Given the description of an element on the screen output the (x, y) to click on. 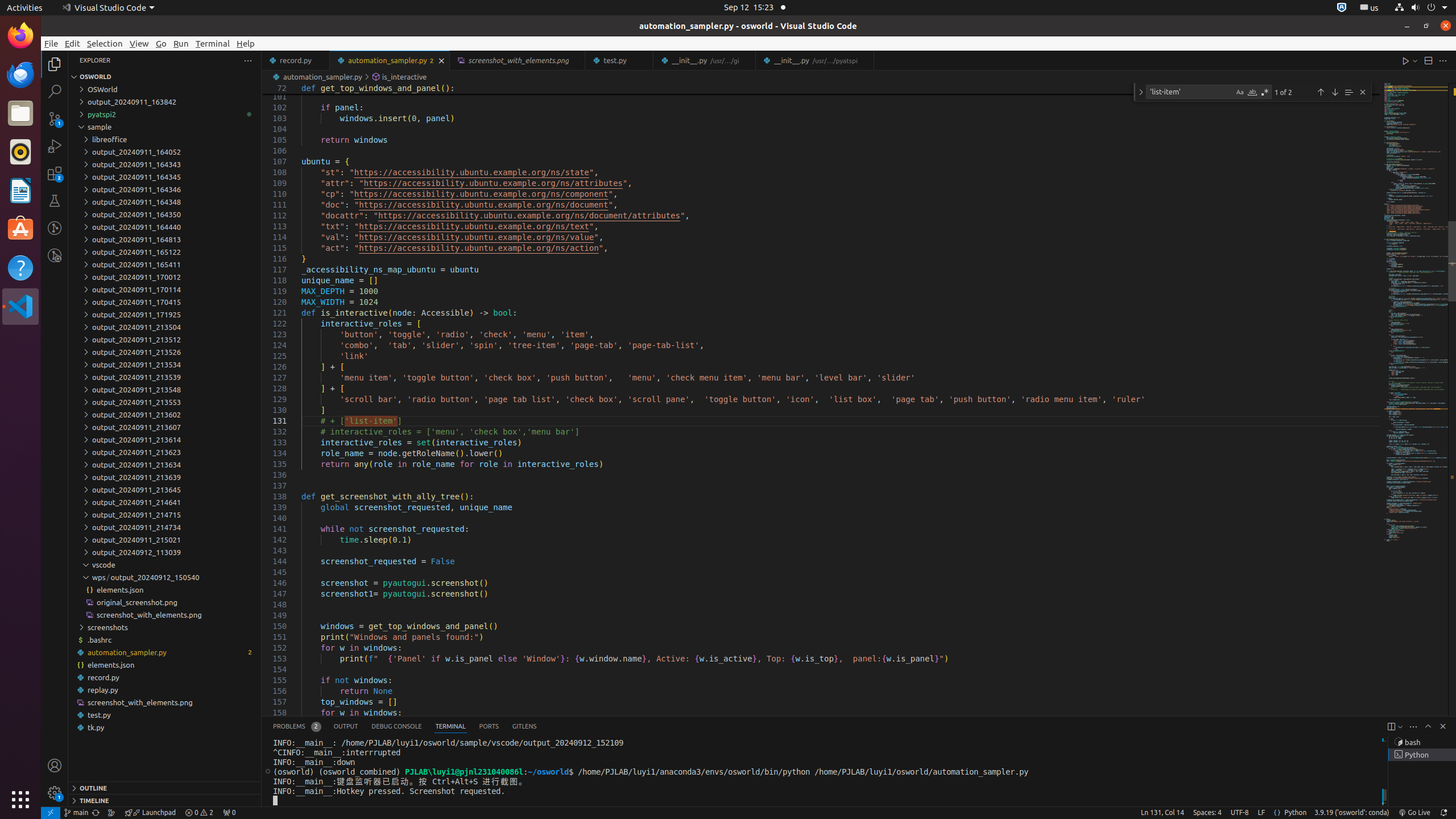
output_20240911_164052 Element type: tree-item (164, 151)
vscode Element type: tree-item (164, 564)
Ports Element type: page-tab (488, 726)
rocket gitlens-unplug Launchpad, GitLens Launchpad ᴘʀᴇᴠɪᴇᴡ    &mdash;    [$(question)](command:gitlens.launchpad.indicator.action?%22info%22 "What is this?") [$(gear)](command:workbench.action.openSettings?%22gitlens.launchpad%22 "Settings")  |  [$(circle-slash) Hide](command:gitlens.launchpad.indicator.action?%22hide%22 "Hide") --- [Launchpad](command:gitlens.launchpad.indicator.action?%info%22 "Learn about Launchpad") organizes your pull requests into actionable groups to help you focus and keep your team unblocked. It's always accessible using the `GitLens: Open Launchpad` command from the Command Palette. --- [Connect an integration](command:gitlens.showLaunchpad?%7B%22source%22%3A%22launchpad-indicator%22%7D "Connect an integration") to get started. Element type: push-button (150, 812)
output_20240911_170415 Element type: tree-item (164, 301)
